Given the description of an element on the screen output the (x, y) to click on. 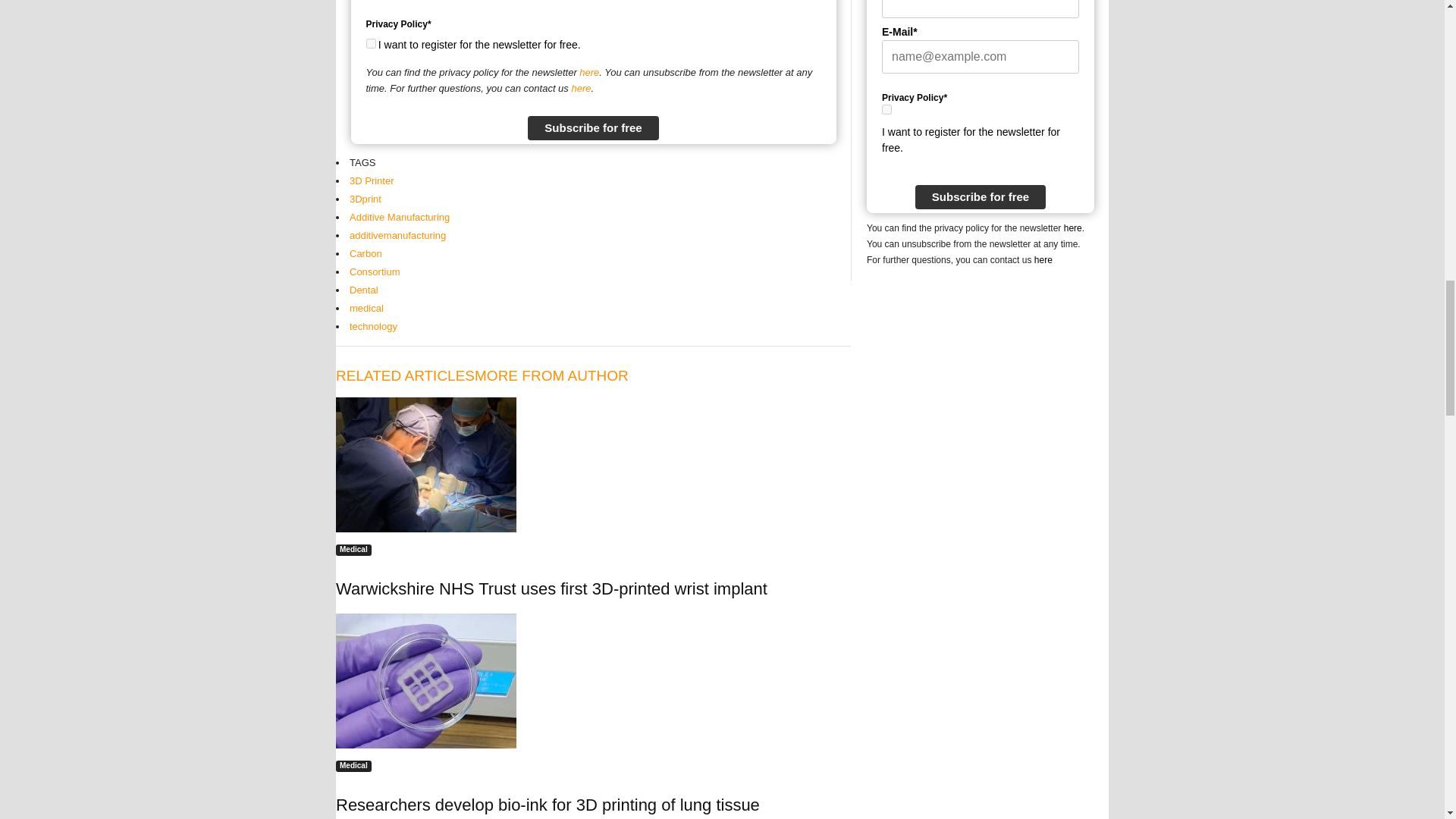
Researchers develop bio-ink for 3D printing of lung tissue (548, 804)
I want to register for the newsletter for free. (886, 109)
Warwickshire NHS Trust uses first 3D-printed wrist implant (426, 464)
Researchers develop bio-ink for 3D printing of lung tissue (593, 680)
Warwickshire NHS Trust uses first 3D-printed wrist implant (551, 588)
Researchers develop bio-ink for 3D printing of lung tissue (426, 680)
Warwickshire NHS Trust uses first 3D-printed wrist implant (593, 464)
I want to register for the newsletter for free. (370, 43)
